Given the description of an element on the screen output the (x, y) to click on. 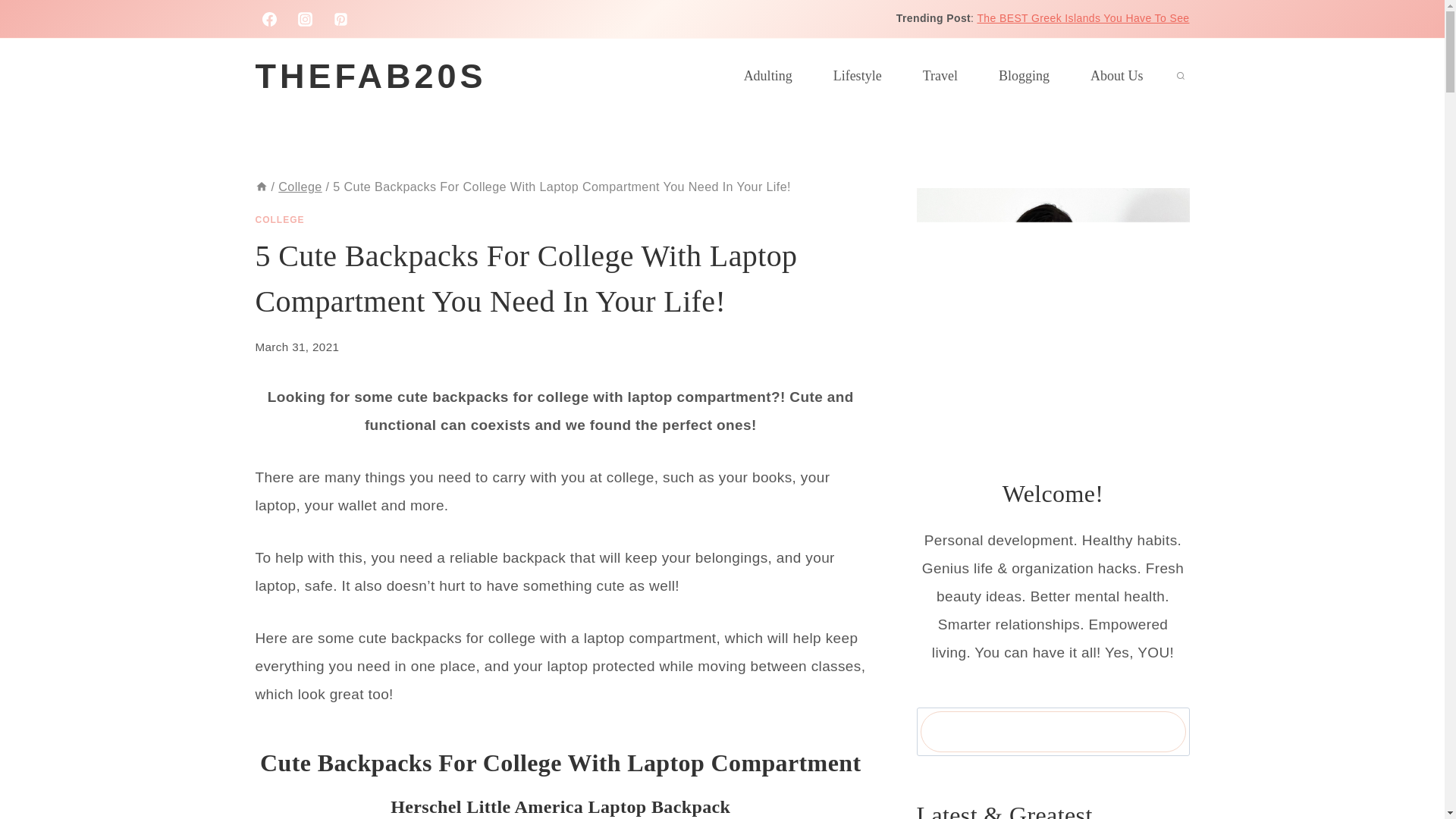
COLLEGE (279, 219)
Lifestyle (857, 76)
THEFAB20S (370, 76)
Blogging (1024, 76)
Adulting (767, 76)
The BEST Greek Islands You Have To See (1082, 18)
About Us (1116, 76)
College (299, 186)
Travel (940, 76)
